Given the description of an element on the screen output the (x, y) to click on. 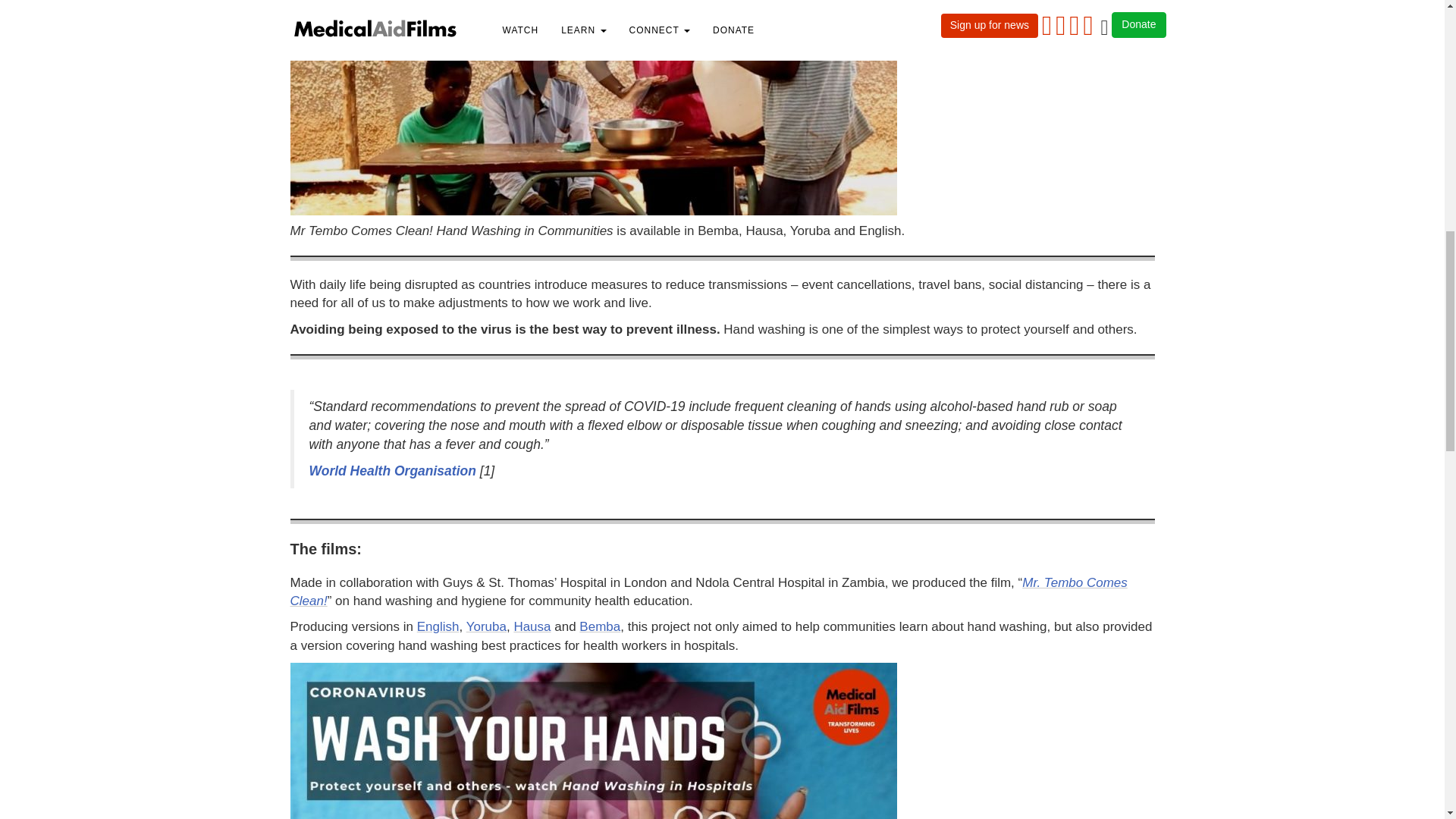
Hausa (531, 626)
English (438, 626)
Mr. Tembo Comes Clean! (707, 591)
Bemba (599, 626)
Yoruba (485, 626)
World Health Organisation (392, 470)
